Given the description of an element on the screen output the (x, y) to click on. 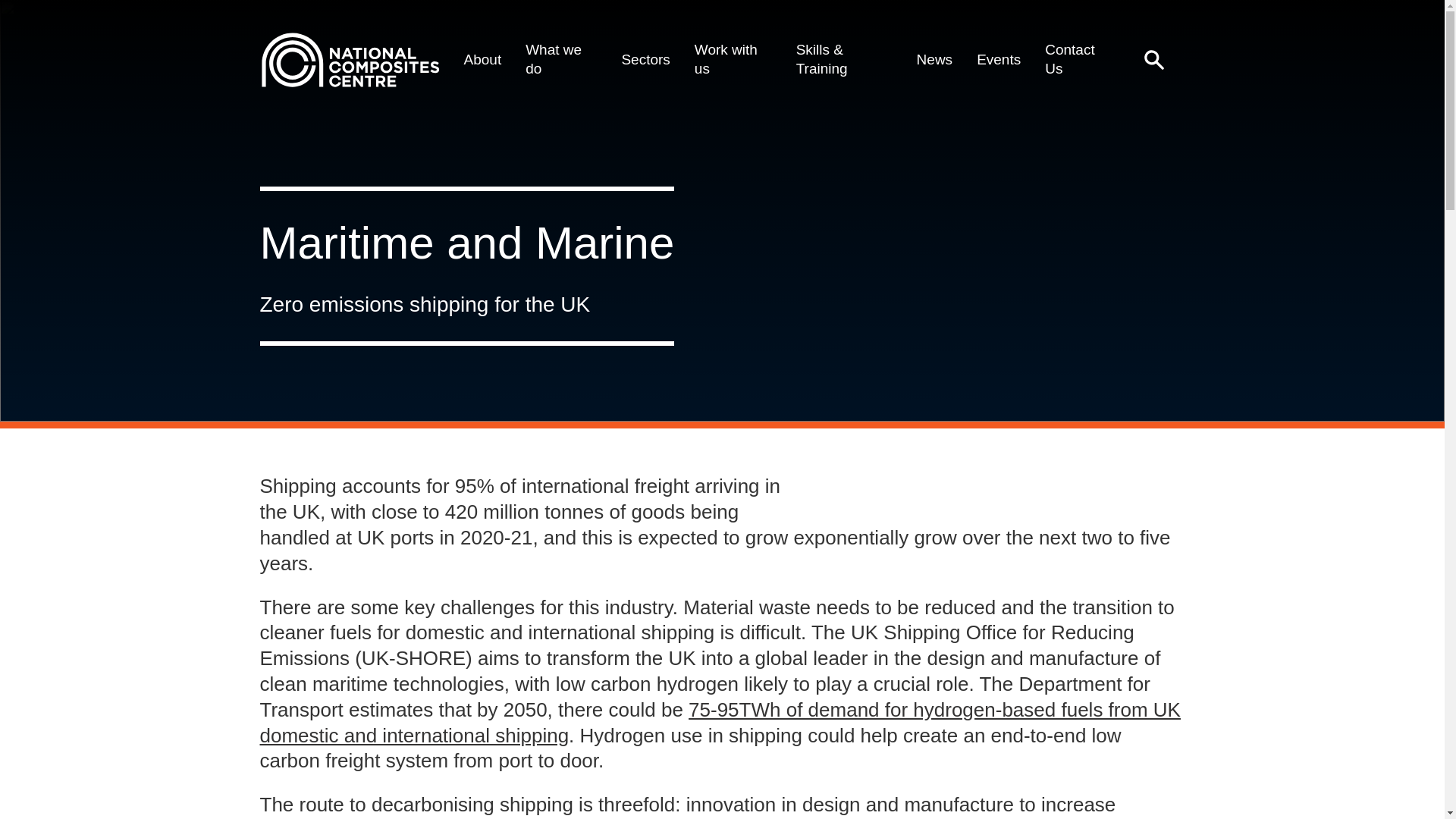
What we do (560, 58)
About (483, 59)
Work with us (732, 58)
Sectors (645, 59)
